Given the description of an element on the screen output the (x, y) to click on. 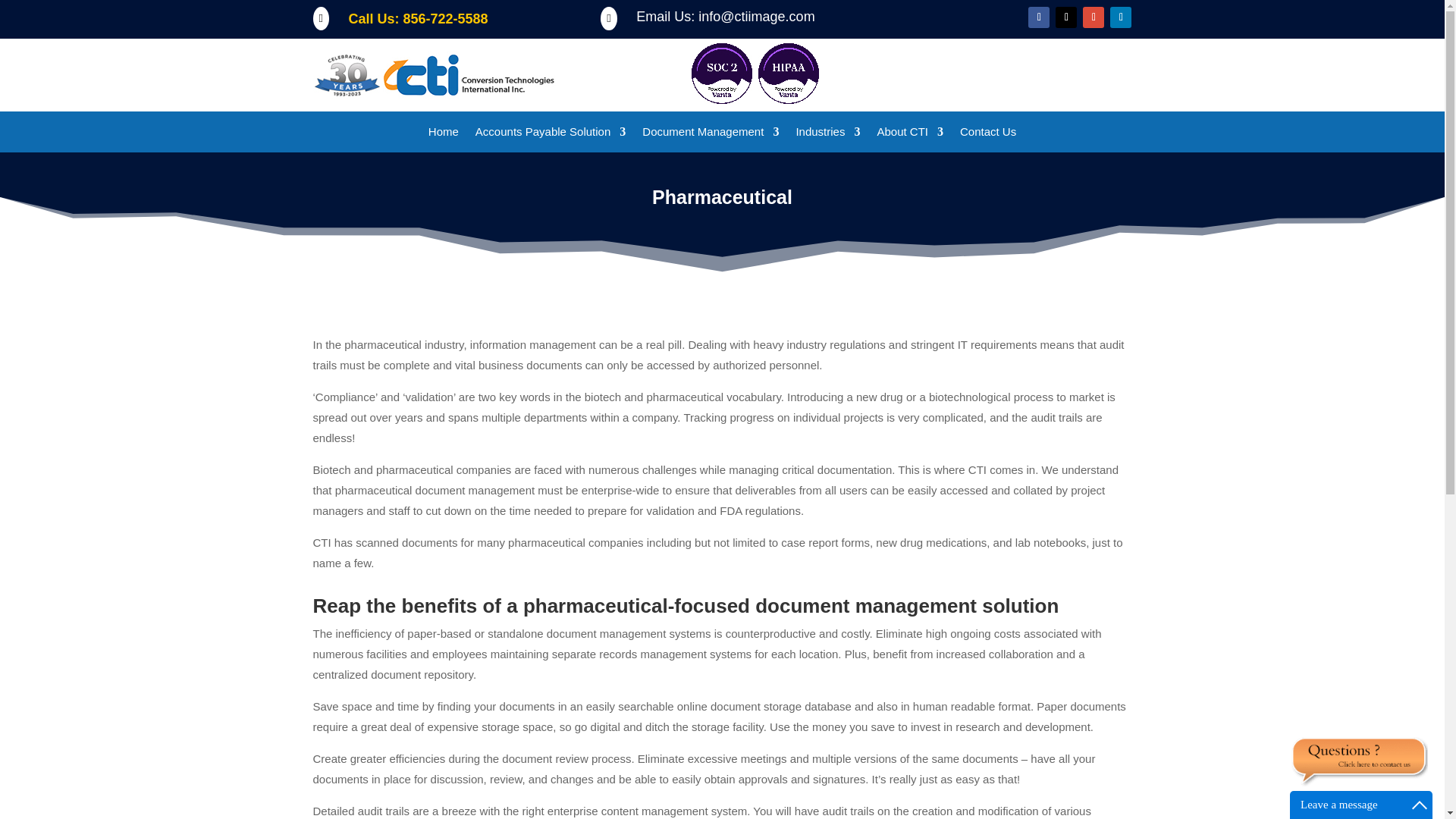
Accounts Payable Solution (551, 134)
About CTI (909, 134)
Contact Us (987, 134)
Follow on Facebook (1038, 16)
Maximize (1419, 805)
Follow on google-plus (1093, 16)
Document Management (710, 134)
Industries (827, 134)
Follow on X (1066, 16)
new cti logo (434, 74)
Home (443, 134)
Follow on LinkedIn (1120, 16)
